Given the description of an element on the screen output the (x, y) to click on. 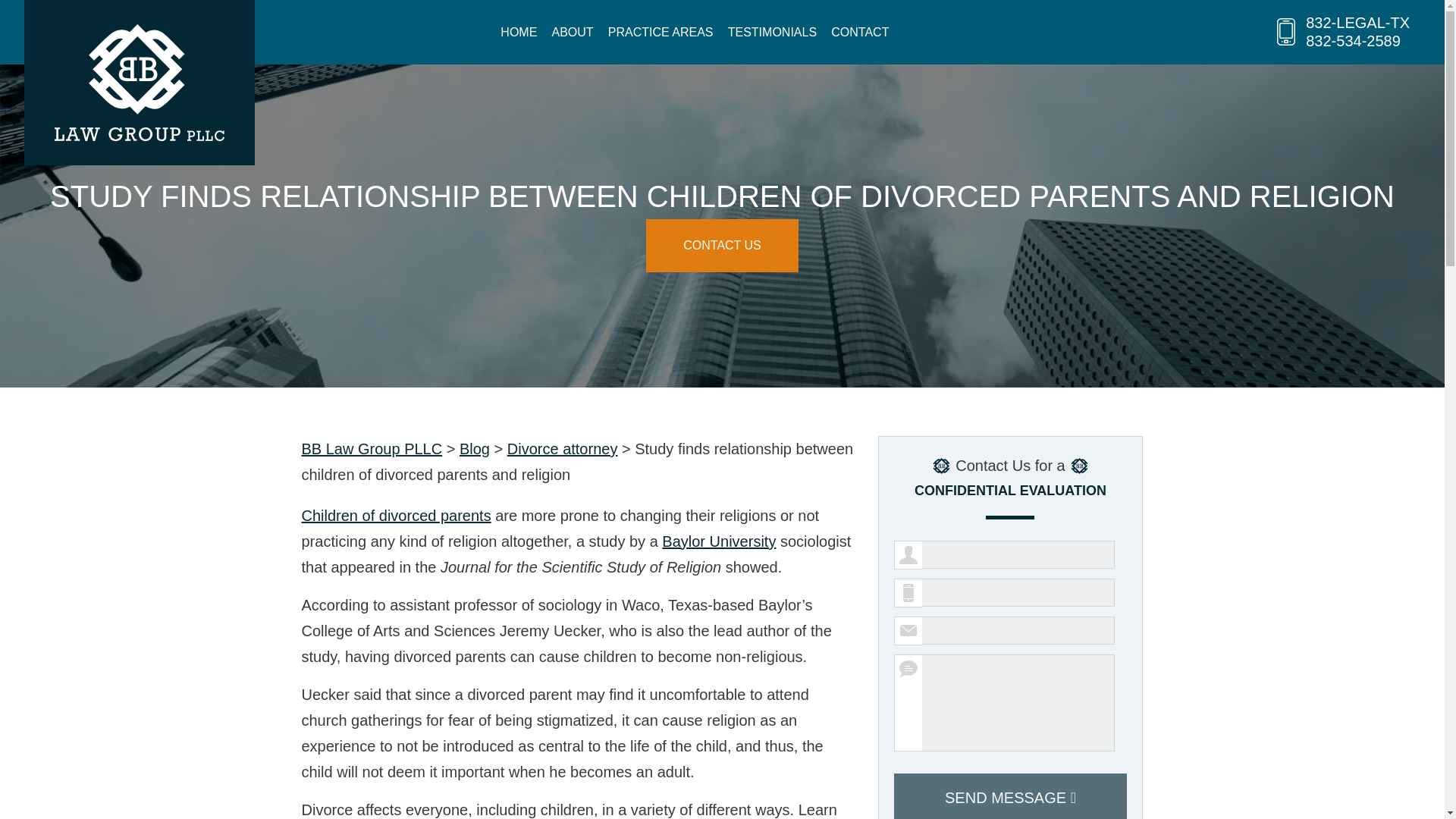
BB Law Group PLLC (371, 448)
CONTACT US (721, 245)
Go to BB Law Group PLLC. (371, 448)
PRACTICE AREAS (660, 32)
Children of divorced parents (396, 515)
Go to the Divorce attorney Category archives. (561, 448)
CONTACT (859, 32)
Divorce attorney (561, 448)
Blog (474, 448)
Baylor University (719, 541)
